Given the description of an element on the screen output the (x, y) to click on. 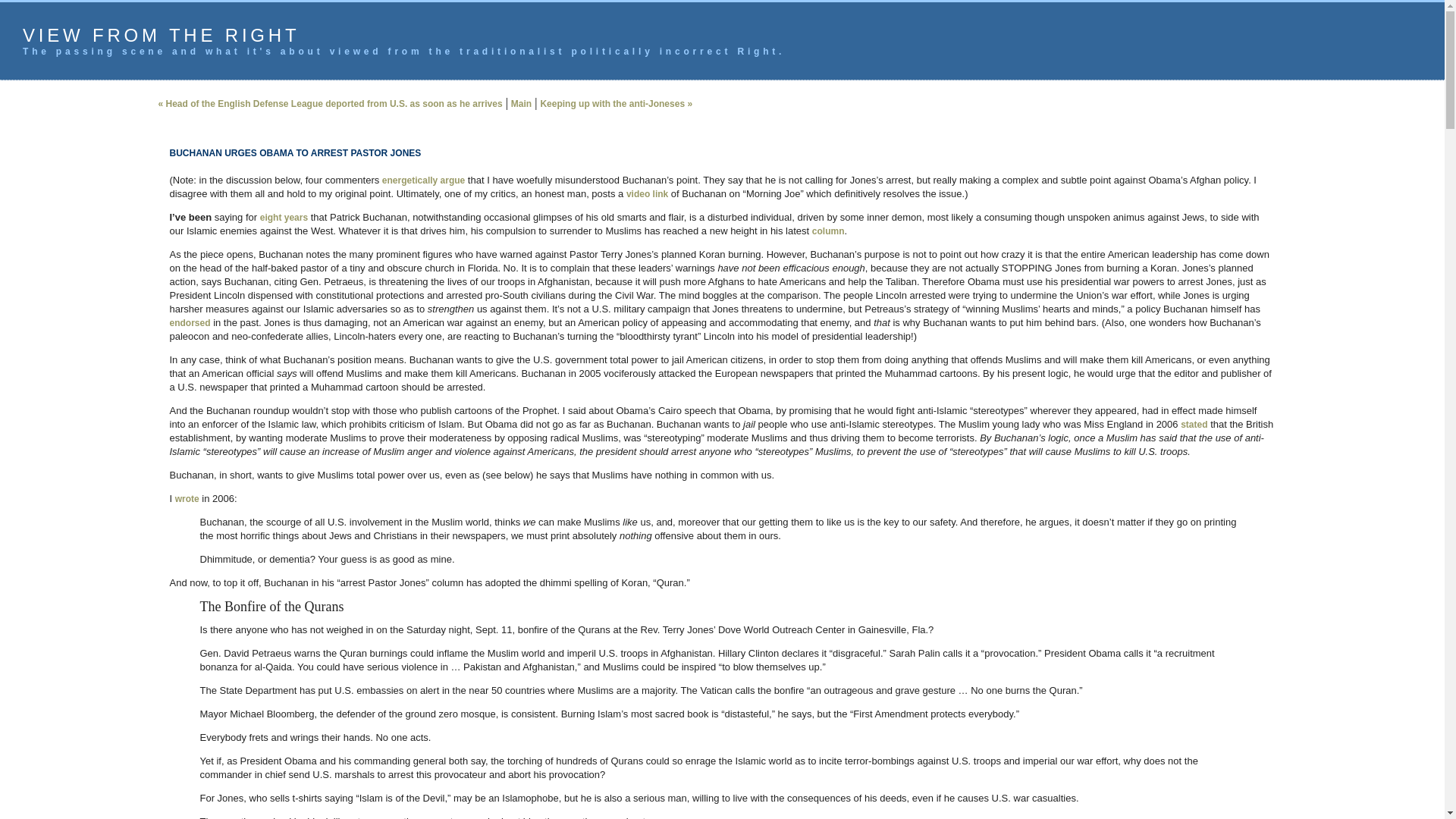
column (828, 231)
VIEW FROM THE RIGHT (161, 35)
wrote (186, 498)
endorsed (190, 322)
energetically argue (422, 180)
eight years (283, 217)
video link (647, 194)
stated (1193, 424)
Main (521, 103)
